Given the description of an element on the screen output the (x, y) to click on. 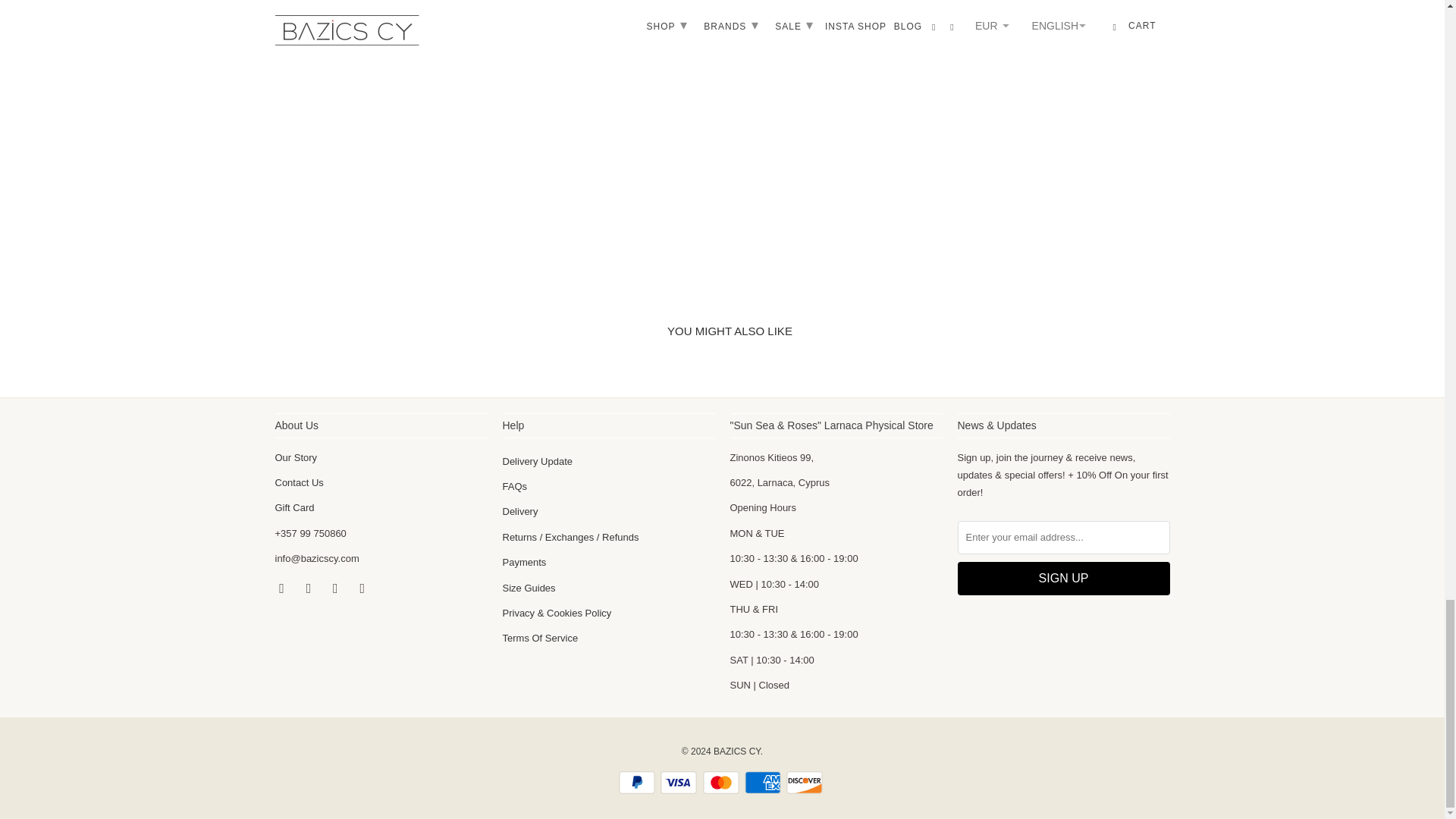
Gift Card - Bazics CY (294, 507)
American Express (764, 782)
Discover (805, 782)
Mastercard (721, 782)
PayPal (638, 782)
Sign Up (1062, 578)
Visa (680, 782)
Our Story (296, 457)
Contact Us (299, 482)
